Given the description of an element on the screen output the (x, y) to click on. 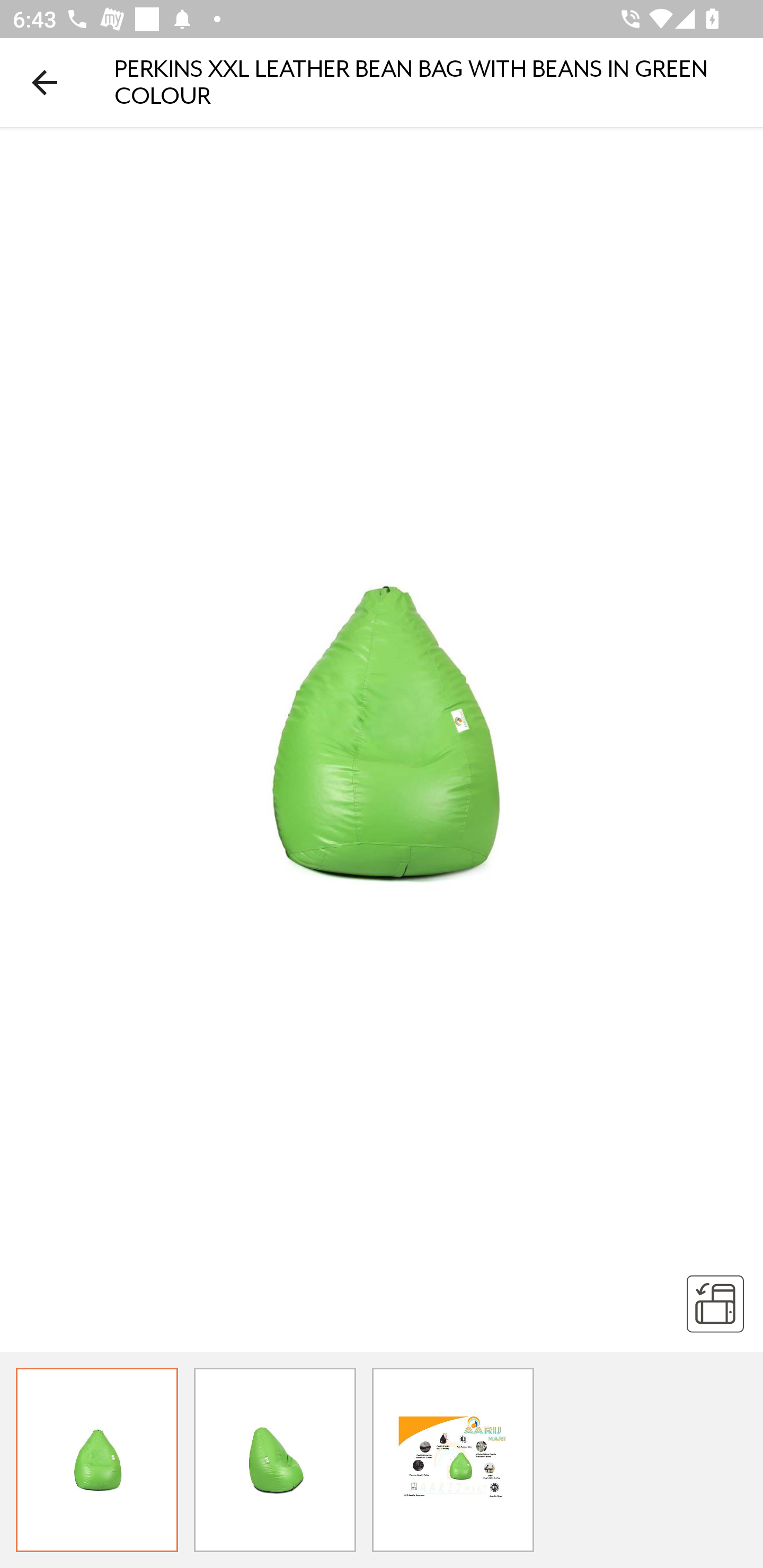
Navigate up (44, 82)
 (715, 1302)
